Given the description of an element on the screen output the (x, y) to click on. 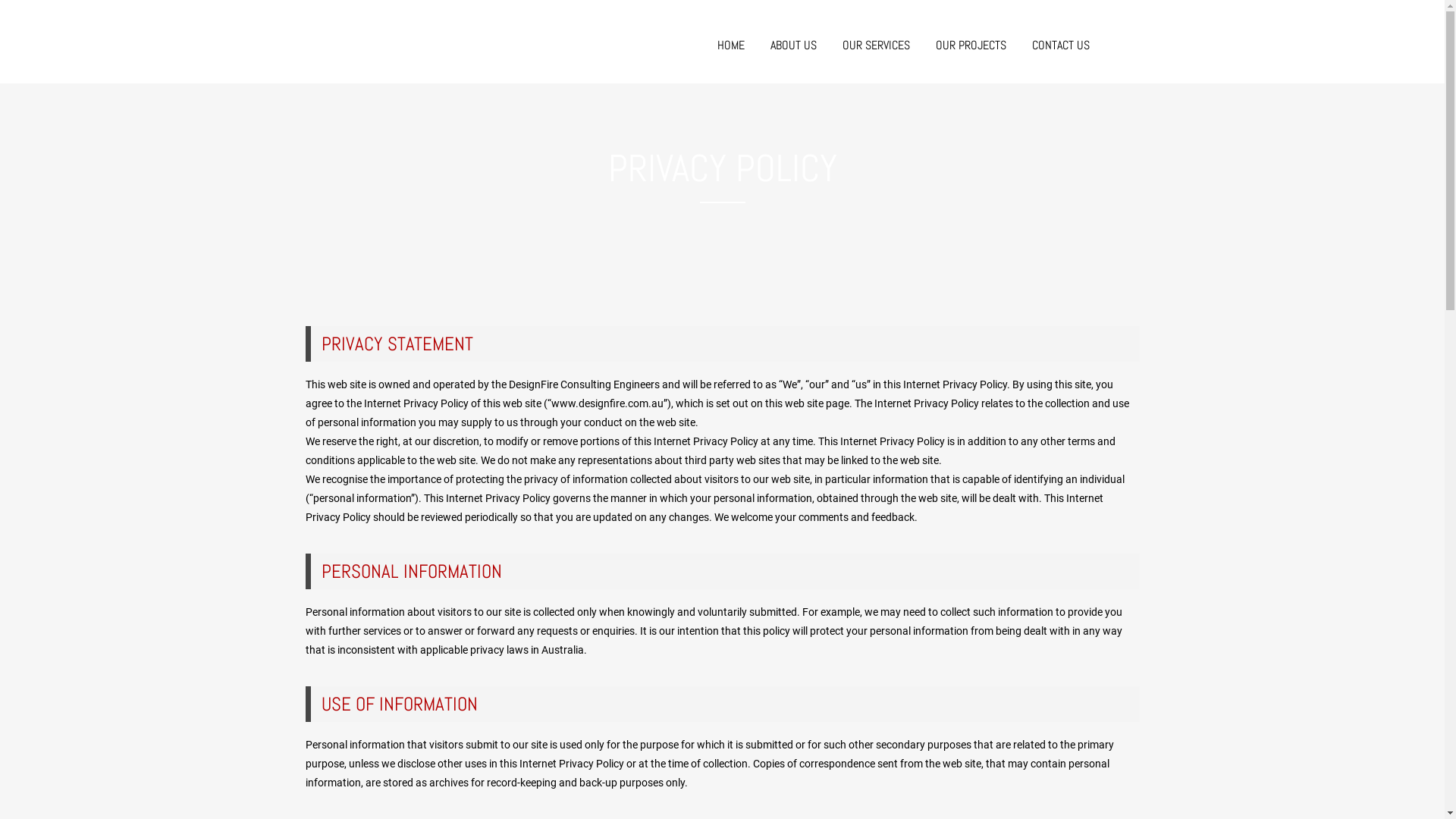
CONTACT US Element type: text (1060, 45)
OUR PROJECTS Element type: text (970, 45)
OUR SERVICES Element type: text (875, 45)
ABOUT US Element type: text (793, 45)
HOME Element type: text (730, 45)
